Given the description of an element on the screen output the (x, y) to click on. 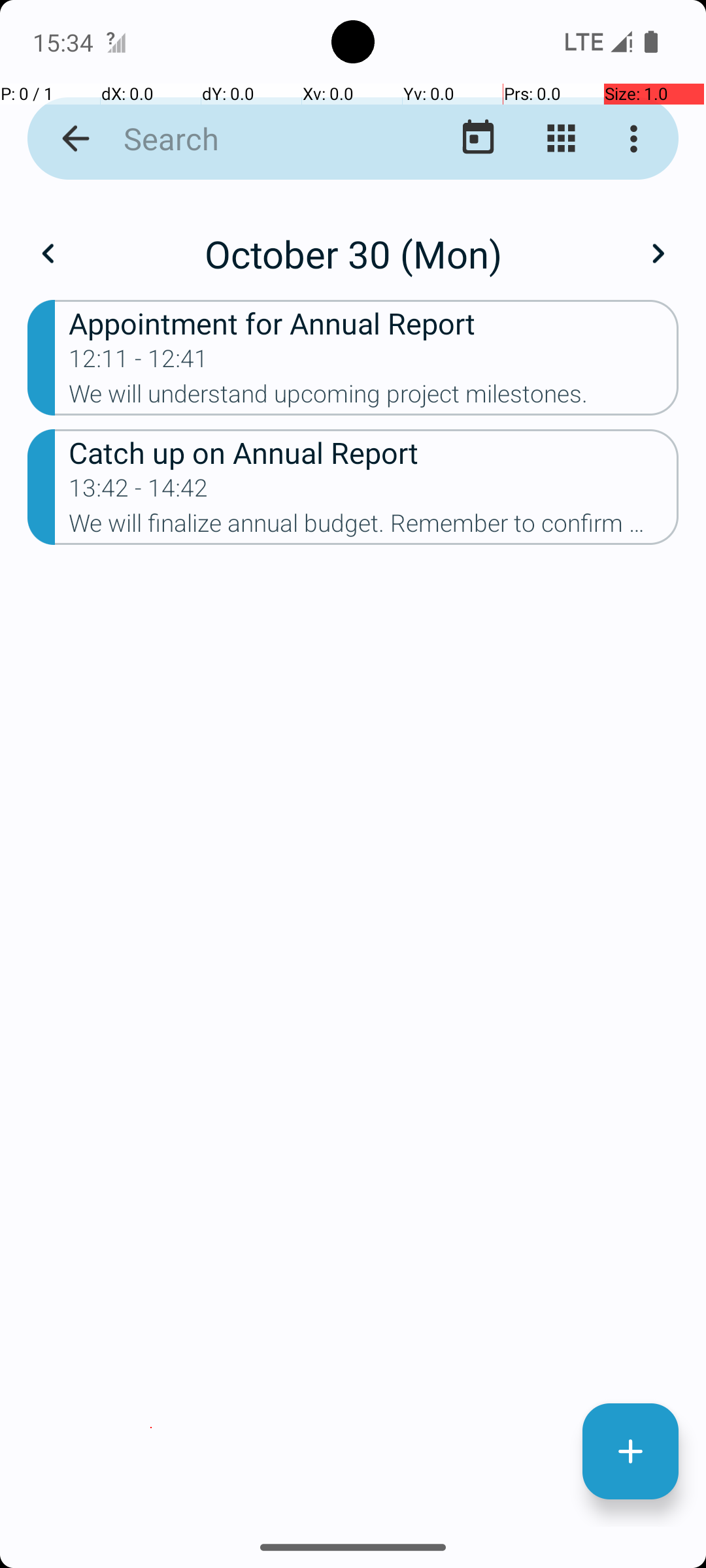
October 30 (Mon) Element type: android.widget.TextView (352, 253)
12:11 - 12:41 Element type: android.widget.TextView (137, 362)
We will understand upcoming project milestones. Element type: android.widget.TextView (373, 397)
13:42 - 14:42 Element type: android.widget.TextView (137, 491)
We will finalize annual budget. Remember to confirm attendance. Element type: android.widget.TextView (373, 526)
